Given the description of an element on the screen output the (x, y) to click on. 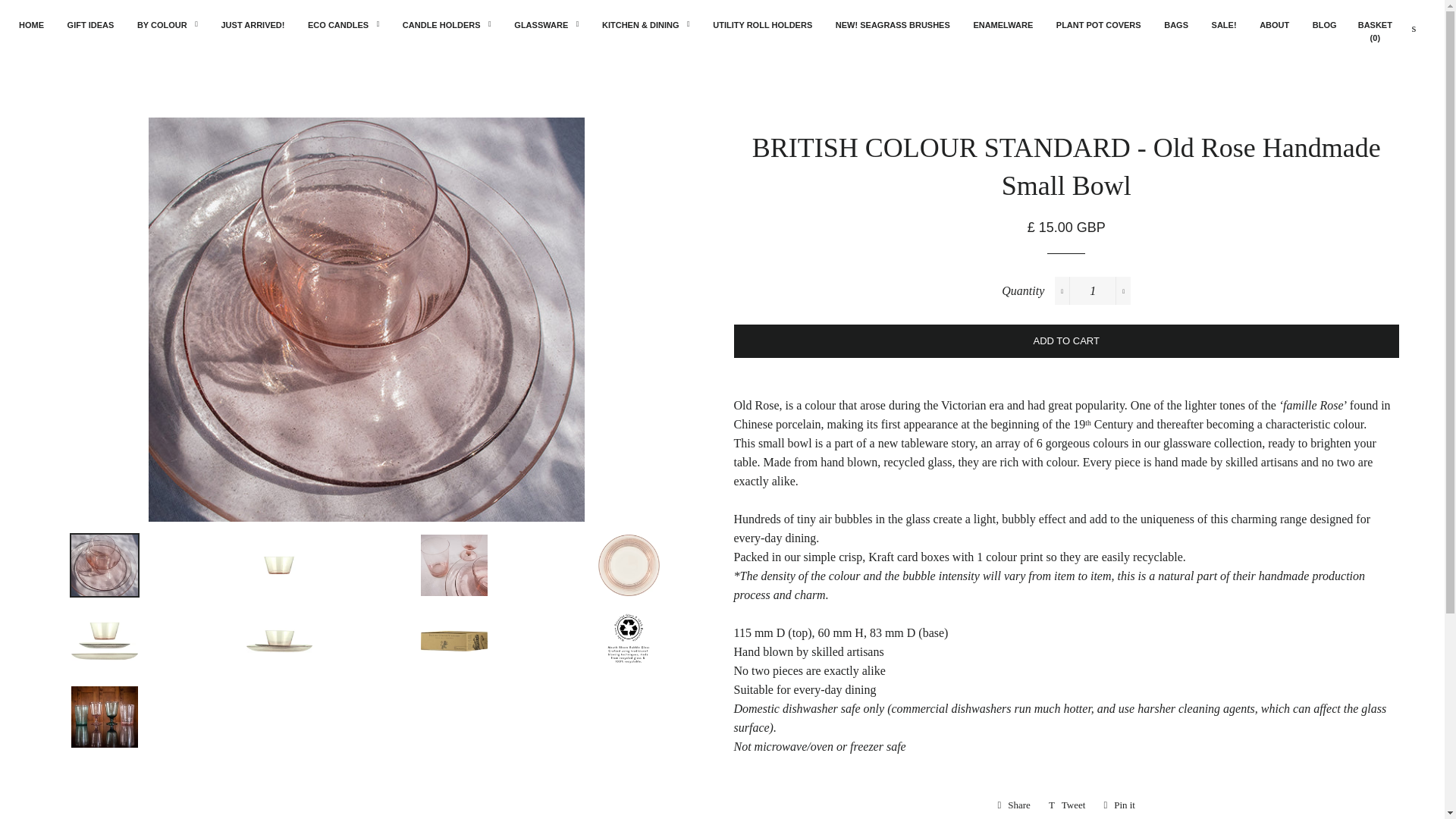
Tweet on Twitter (1067, 804)
1 (1092, 290)
Share on Facebook (1014, 804)
Pin on Pinterest (1119, 804)
